Given the description of an element on the screen output the (x, y) to click on. 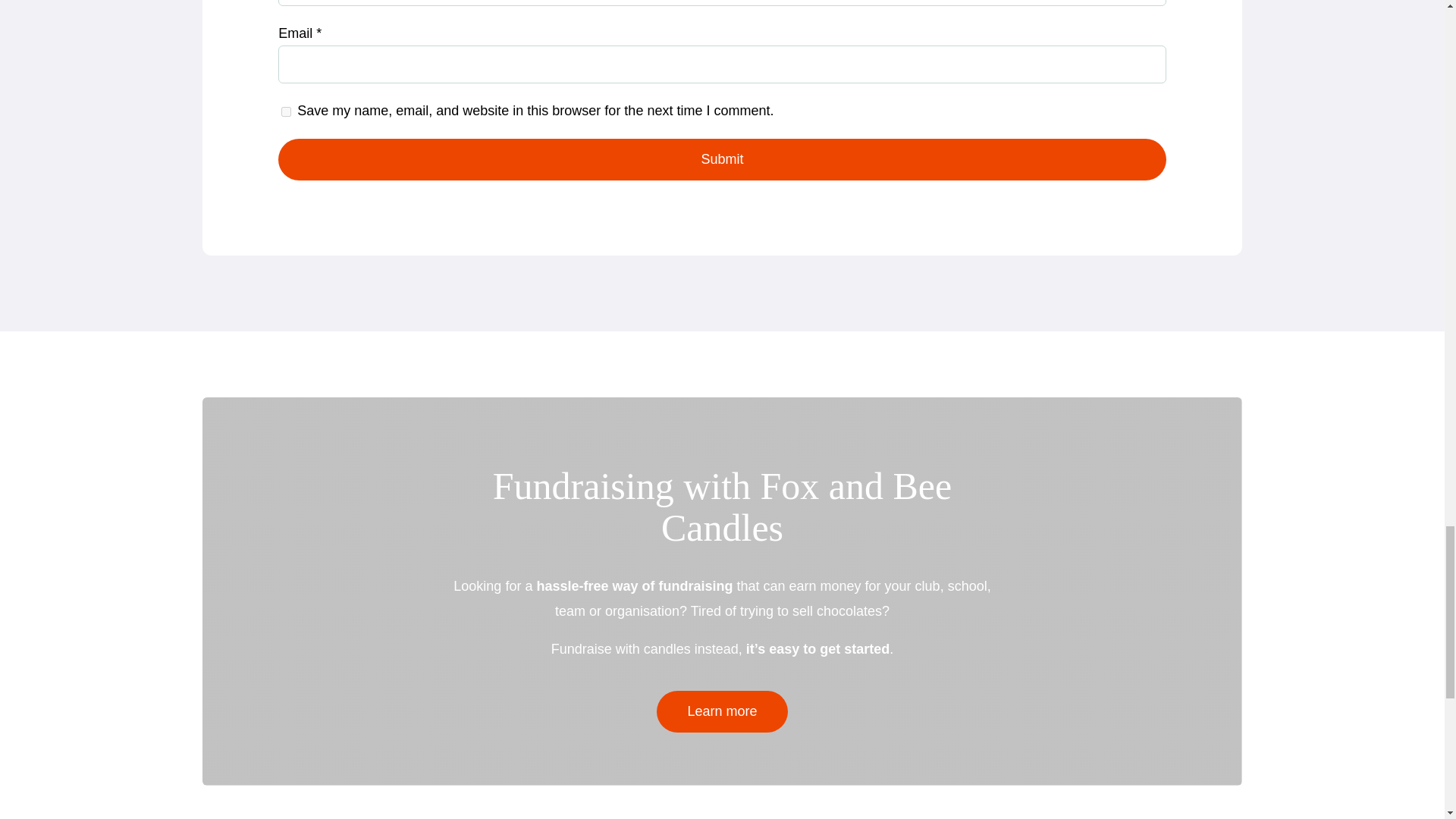
yes (286, 112)
Submit (722, 159)
